Given the description of an element on the screen output the (x, y) to click on. 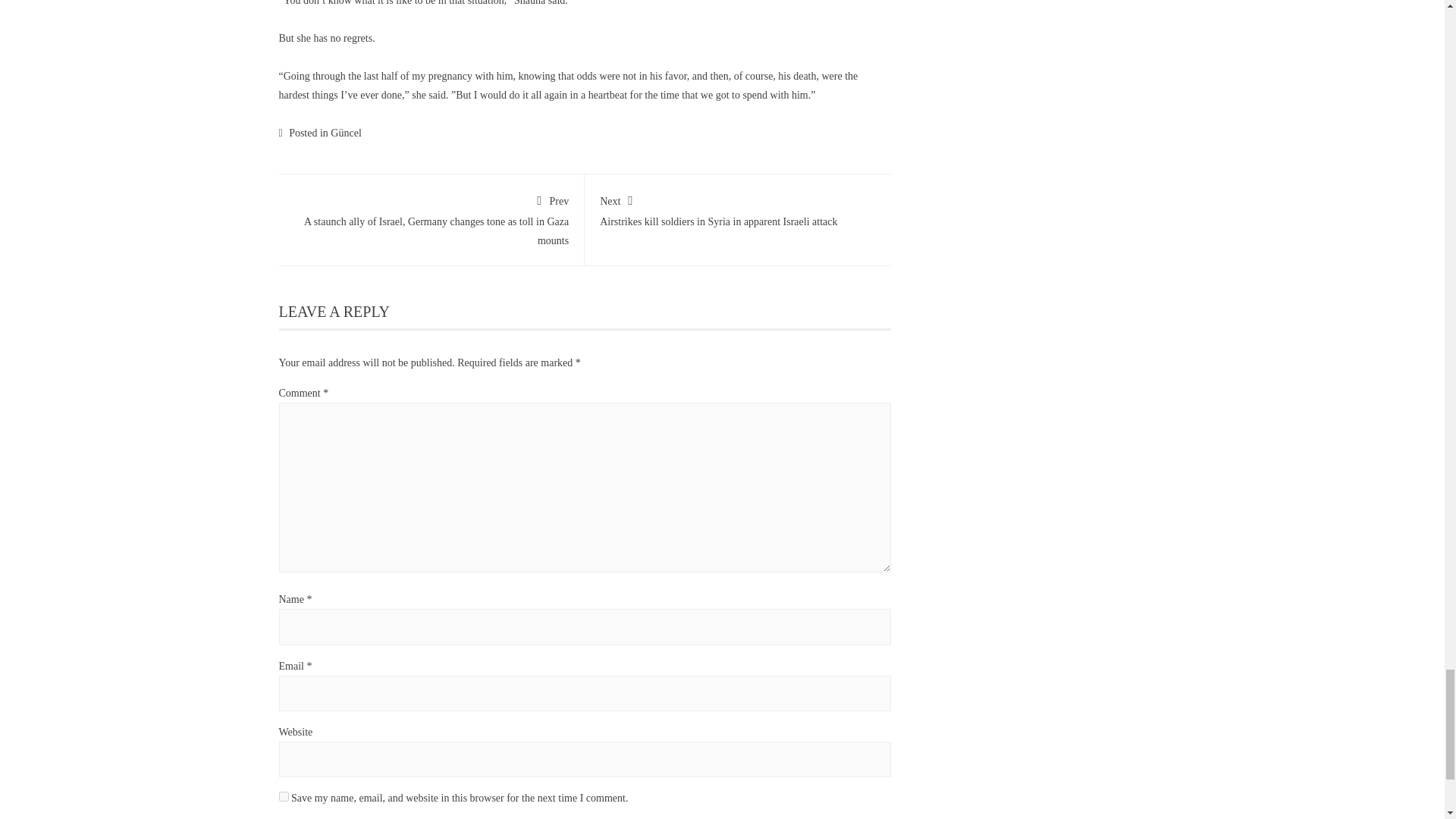
yes (283, 796)
